Given the description of an element on the screen output the (x, y) to click on. 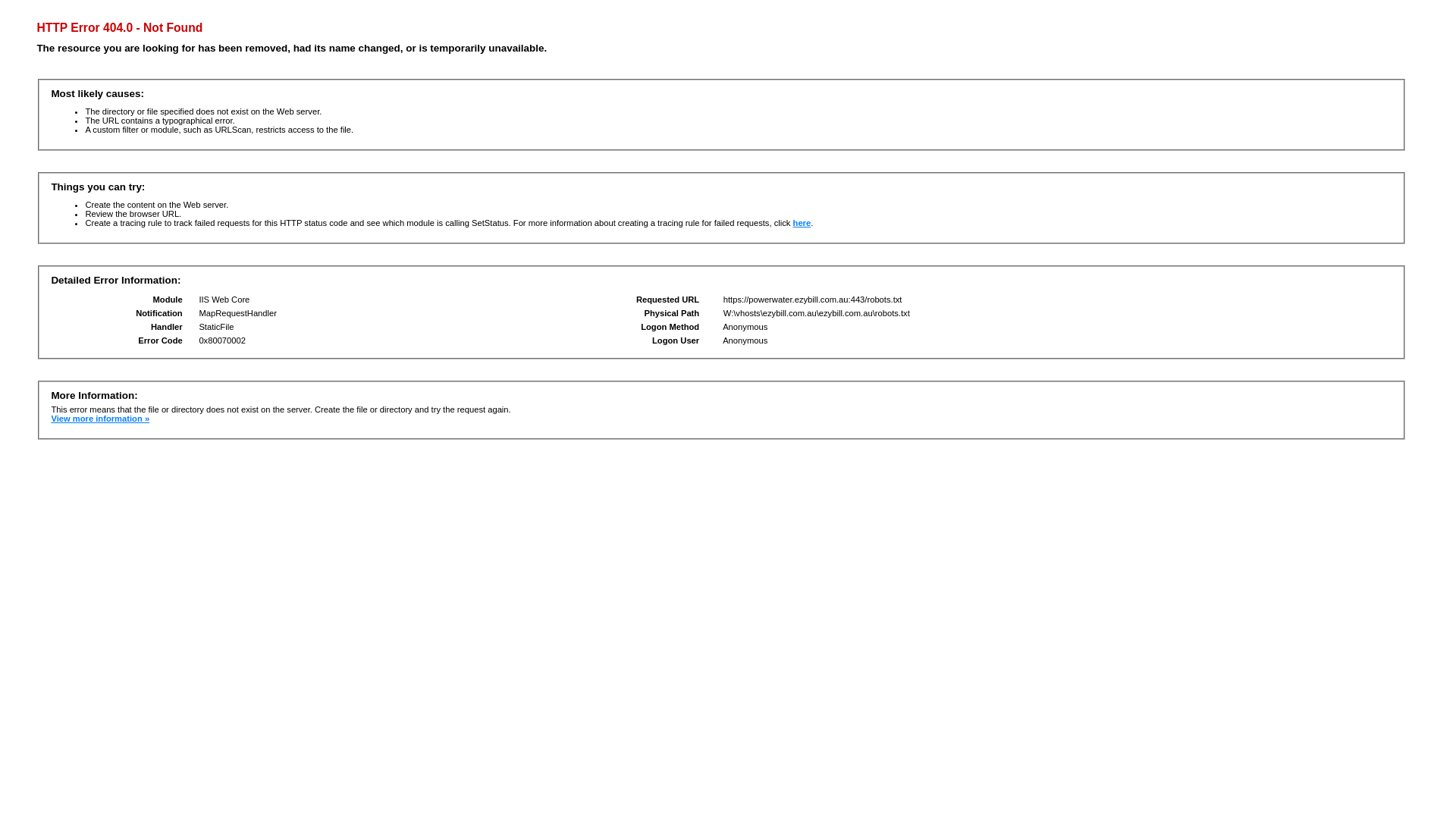
here Element type: text (802, 222)
